Given the description of an element on the screen output the (x, y) to click on. 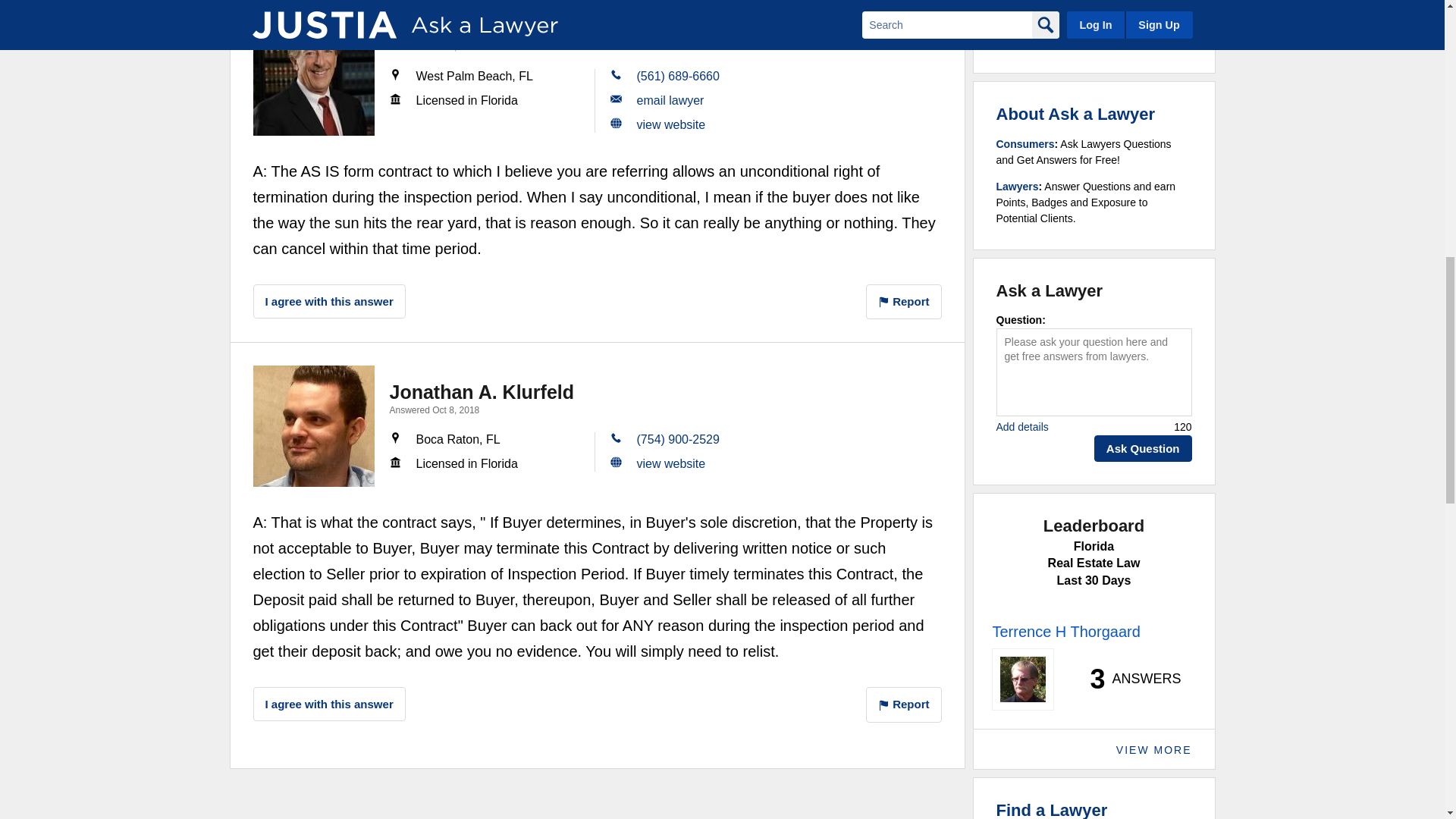
Richard Paul Zaretsky (313, 74)
I agree with this answer (329, 301)
Ask a Lawyer - Leaderboard - Lawyer Name (1065, 630)
Ask a Lawyer - FAQs - Lawyers (1017, 186)
Richard Paul Zaretsky (489, 28)
Ask a Lawyer - Leaderboard - Lawyer Photo (1021, 679)
Jonathan A. Klurfeld (313, 425)
Report (904, 302)
Ask a Lawyer - Leaderboard - Lawyer Stats (1127, 678)
